Given the description of an element on the screen output the (x, y) to click on. 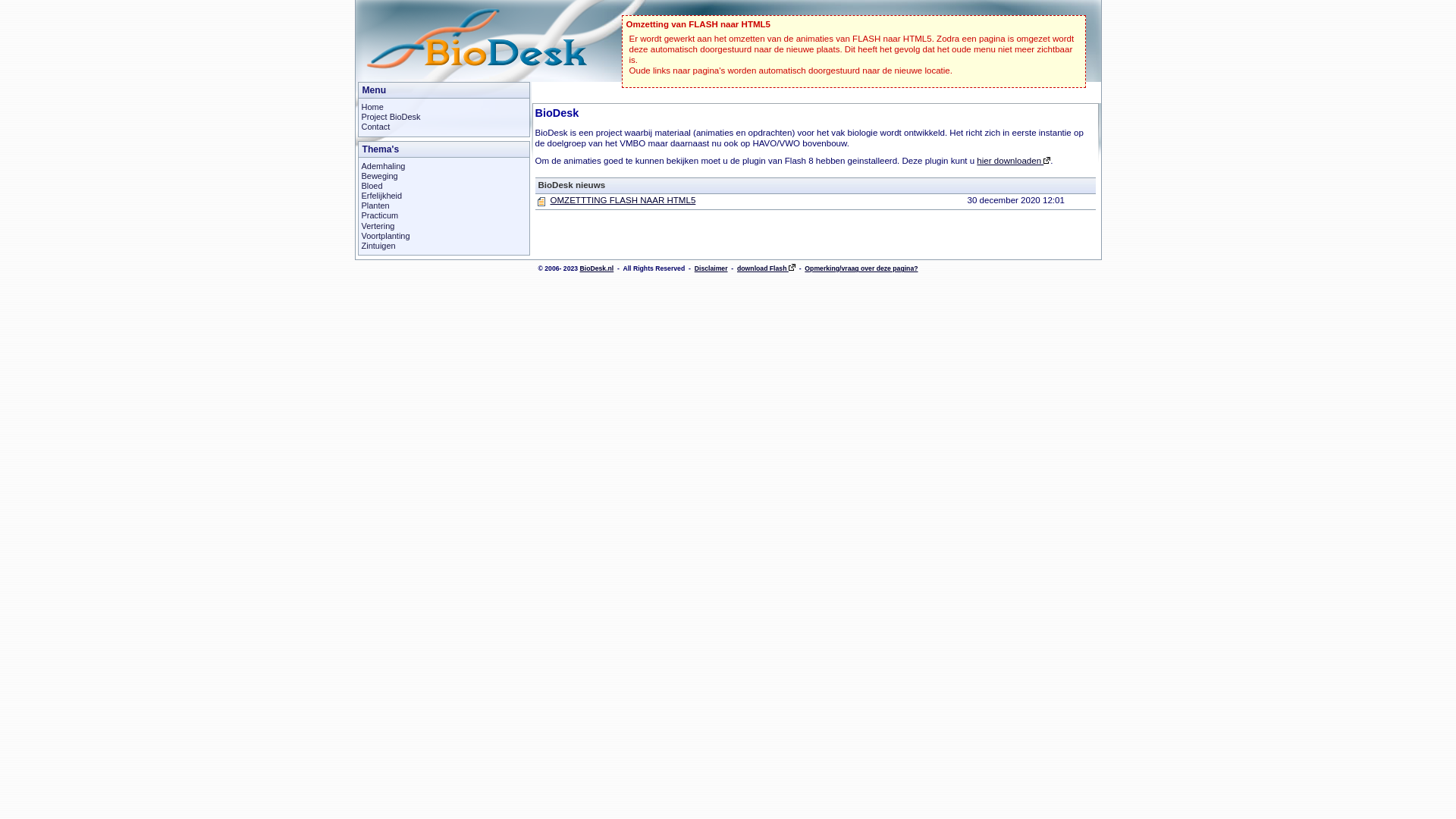
BioDesk.nl Element type: text (596, 268)
Vertering Element type: text (377, 225)
Project BioDesk Element type: text (390, 116)
hier downloaden Element type: text (1013, 160)
Bloed Element type: text (371, 185)
Practicum Element type: text (379, 214)
Zintuigen Element type: text (377, 245)
Disclaimer Element type: text (711, 268)
Beweging Element type: text (378, 175)
Erfelijkheid Element type: text (380, 195)
Home Element type: text (371, 106)
Opmerking/vraag over deze pagina? Element type: text (860, 268)
Planten Element type: text (374, 205)
Ademhaling Element type: text (382, 165)
download Flash Element type: text (766, 268)
Voortplanting Element type: text (384, 235)
Contact Element type: text (374, 126)
OMZETTTING FLASH NAAR HTML5 Element type: text (623, 199)
